Given the description of an element on the screen output the (x, y) to click on. 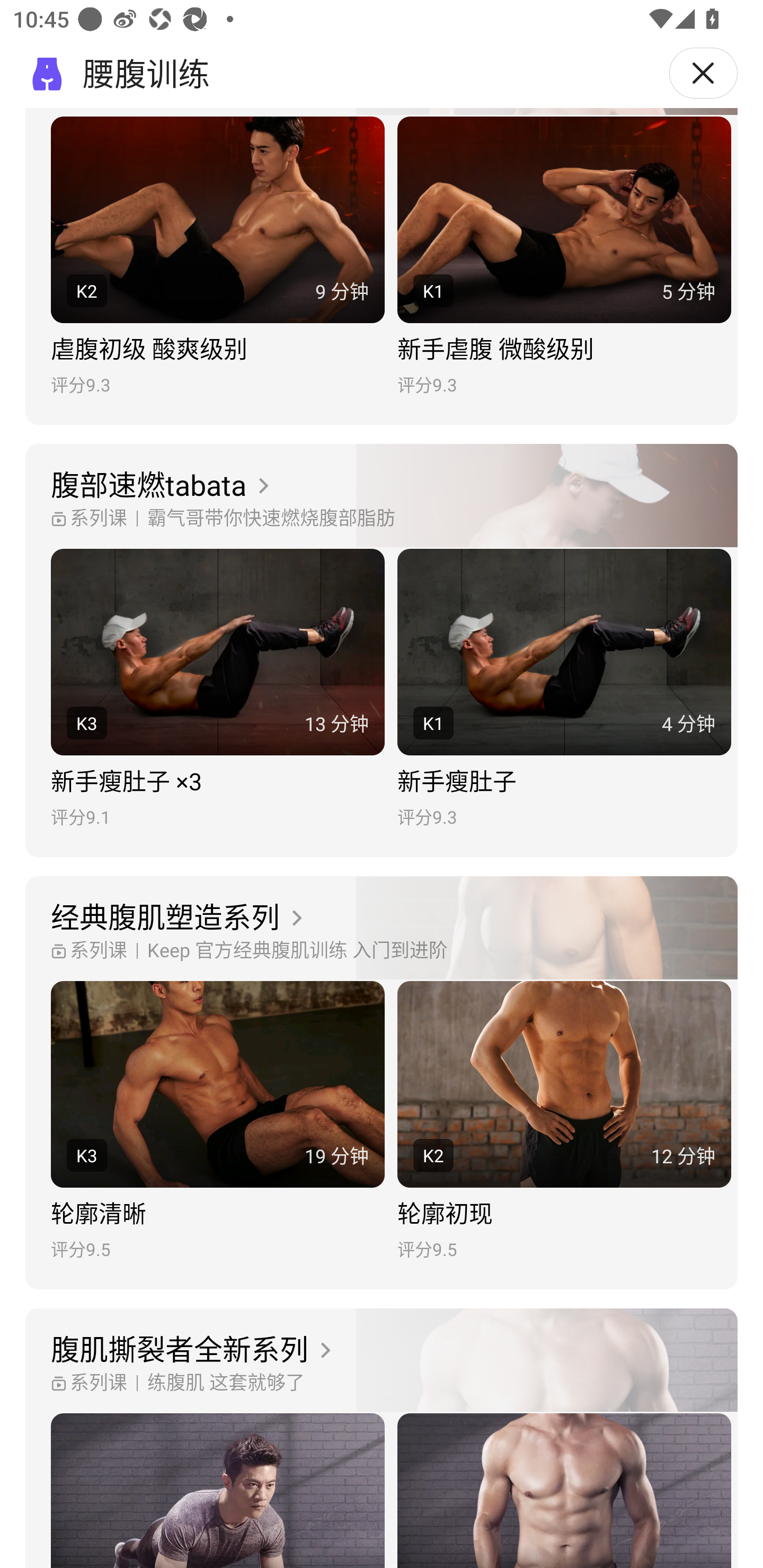
K2 9 分钟 虐腹初级 酸爽级别 评分9.3 (217, 256)
K1 5 分钟 新手虐腹 微酸级别 评分9.3 (563, 256)
腹部速燃tabata 系列课 霸气哥带你快速燃烧腹部脂肪 (381, 495)
K3 13 分钟 新手瘦肚子 ×3 评分9.1 (217, 687)
K1 4 分钟 新手瘦肚子 评分9.3 (563, 687)
经典腹肌塑造系列 系列课 Keep 官方经典腹肌训练 入门到进阶 (381, 928)
K3 19 分钟 轮廓清晰 评分9.5 (217, 1120)
K2 12 分钟 轮廓初现 评分9.5 (563, 1120)
腹肌撕裂者全新系列 系列课 练腹肌 这套就够了 (381, 1359)
